Given the description of an element on the screen output the (x, y) to click on. 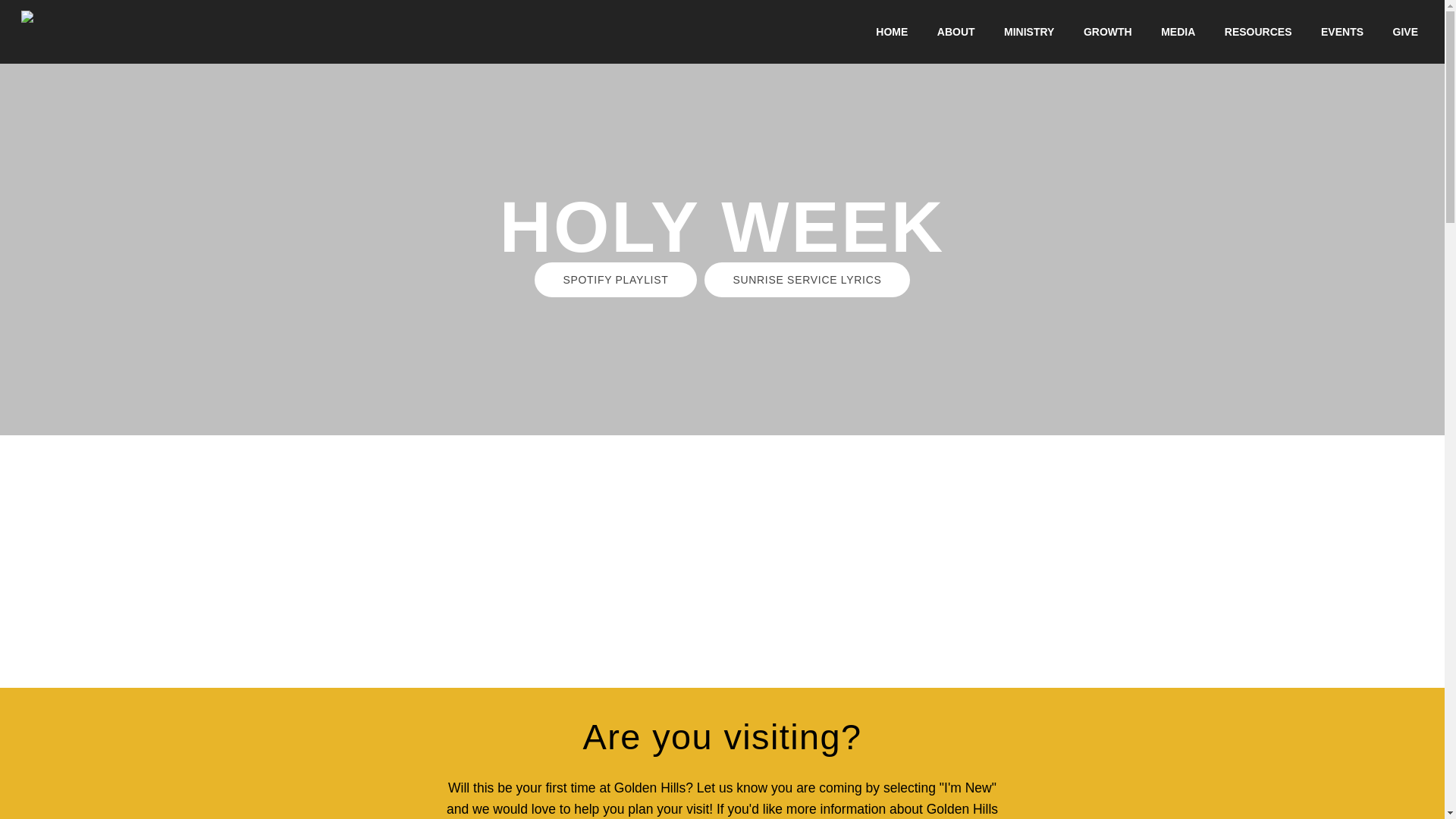
HOME (891, 31)
MEDIA (1177, 31)
ABOUT (955, 31)
GIVE (1405, 31)
MINISTRY (1028, 31)
GROWTH (1107, 31)
RESOURCES (1258, 31)
EVENTS (1342, 31)
